Given the description of an element on the screen output the (x, y) to click on. 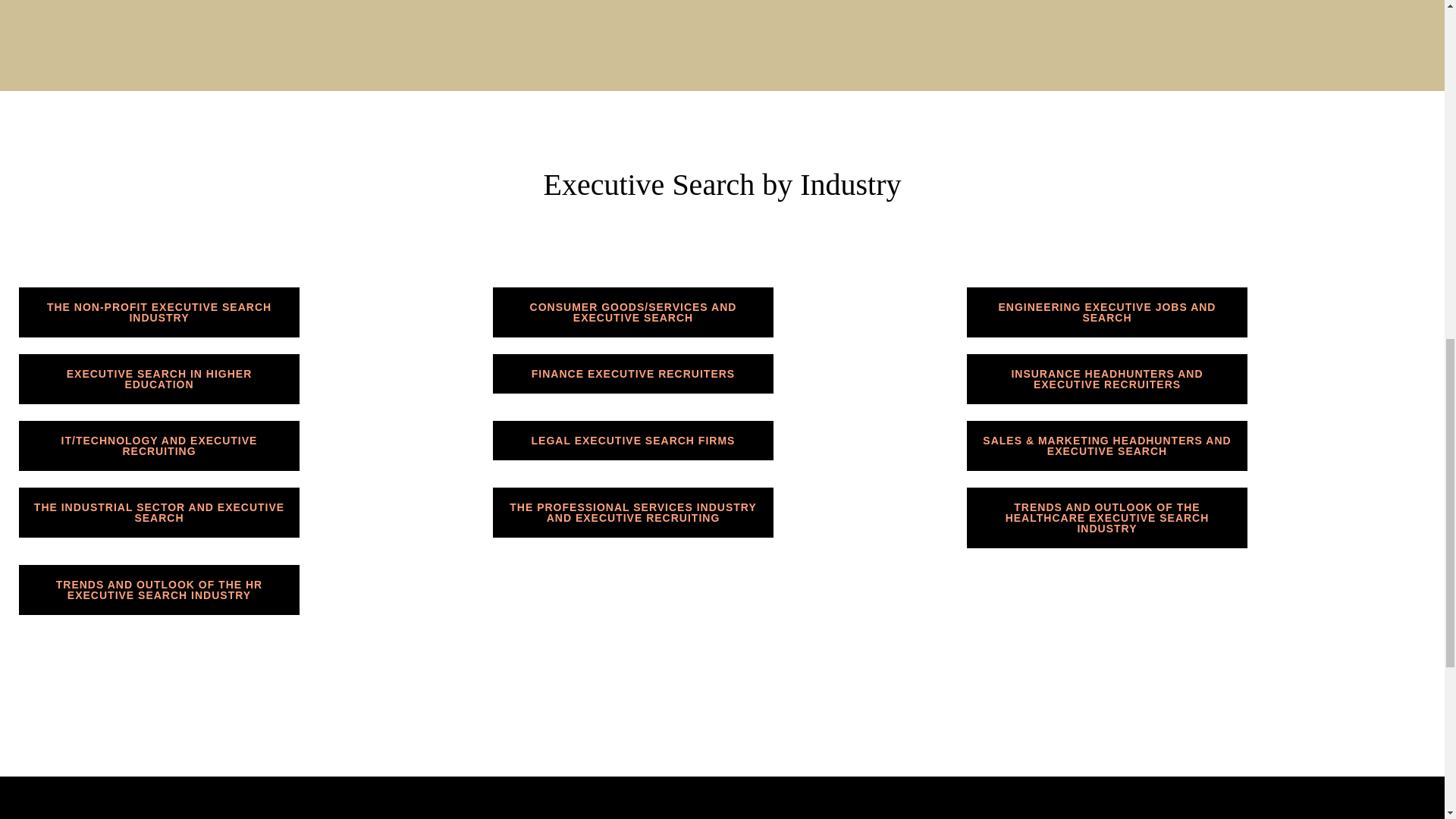
INSURANCE HEADHUNTERS AND EXECUTIVE RECRUITERS (1106, 378)
THE PROFESSIONAL SERVICES INDUSTRY AND EXECUTIVE RECRUITING (633, 512)
THE INDUSTRIAL SECTOR AND EXECUTIVE SEARCH (158, 512)
EXECUTIVE SEARCH IN HIGHER EDUCATION (158, 378)
LEGAL EXECUTIVE SEARCH FIRMS (633, 440)
ENGINEERING EXECUTIVE JOBS AND SEARCH (1106, 312)
FINANCE EXECUTIVE RECRUITERS (633, 373)
THE NON-PROFIT EXECUTIVE SEARCH INDUSTRY (158, 312)
